Given the description of an element on the screen output the (x, y) to click on. 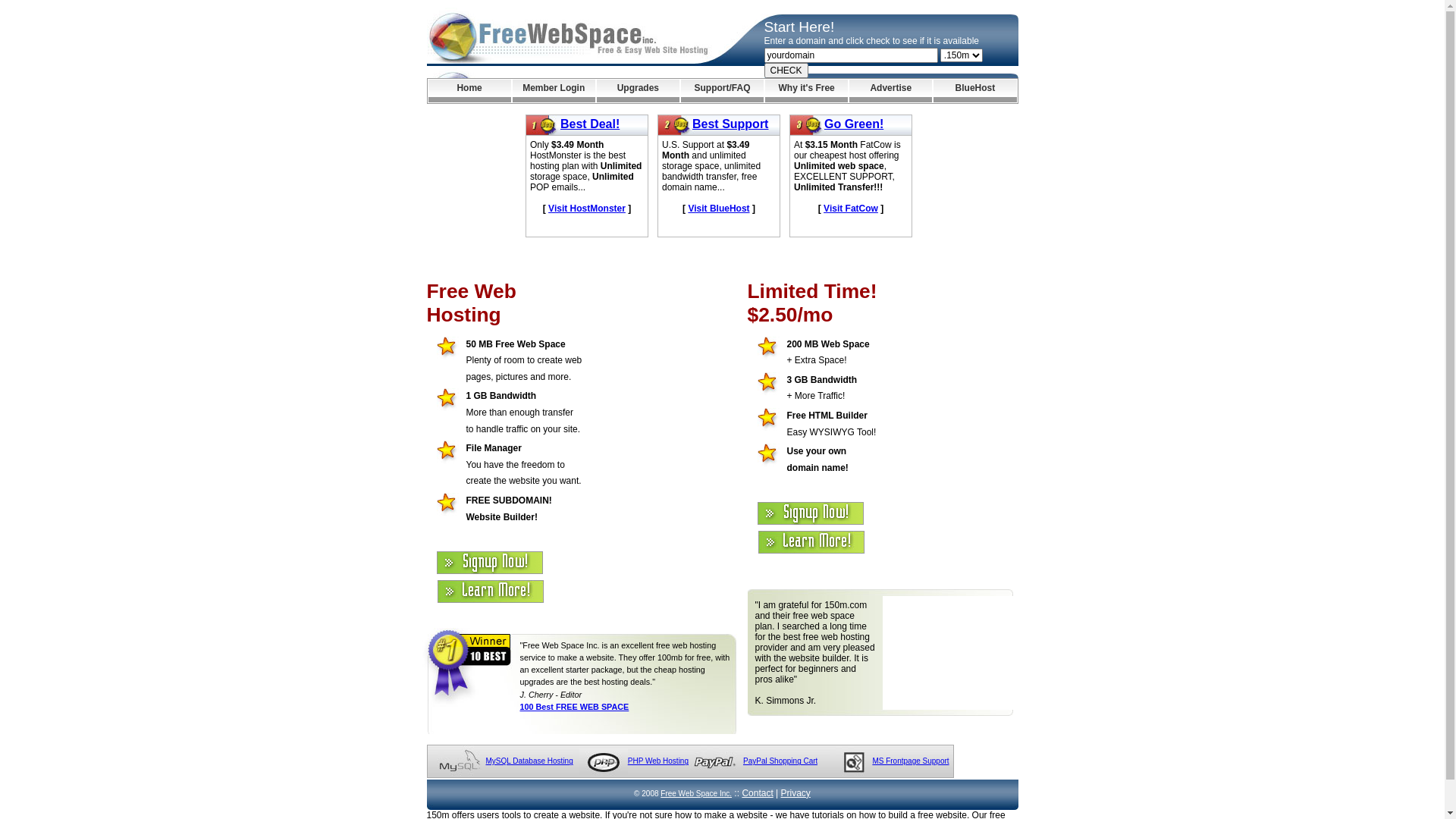
Advertise Element type: text (890, 90)
Support/FAQ Element type: text (721, 90)
CHECK Element type: text (786, 70)
Home Element type: text (468, 90)
PHP Web Hosting Element type: text (657, 760)
Contact Element type: text (756, 792)
Upgrades Element type: text (637, 90)
Why it's Free Element type: text (806, 90)
MS Frontpage Support Element type: text (910, 760)
Privacy Element type: text (795, 792)
BlueHost Element type: text (974, 90)
Member Login Element type: text (553, 90)
PayPal Shopping Cart Element type: text (780, 760)
100 Best FREE WEB SPACE Element type: text (574, 706)
Free Web Space Inc. Element type: text (695, 793)
MySQL Database Hosting Element type: text (528, 760)
